Given the description of an element on the screen output the (x, y) to click on. 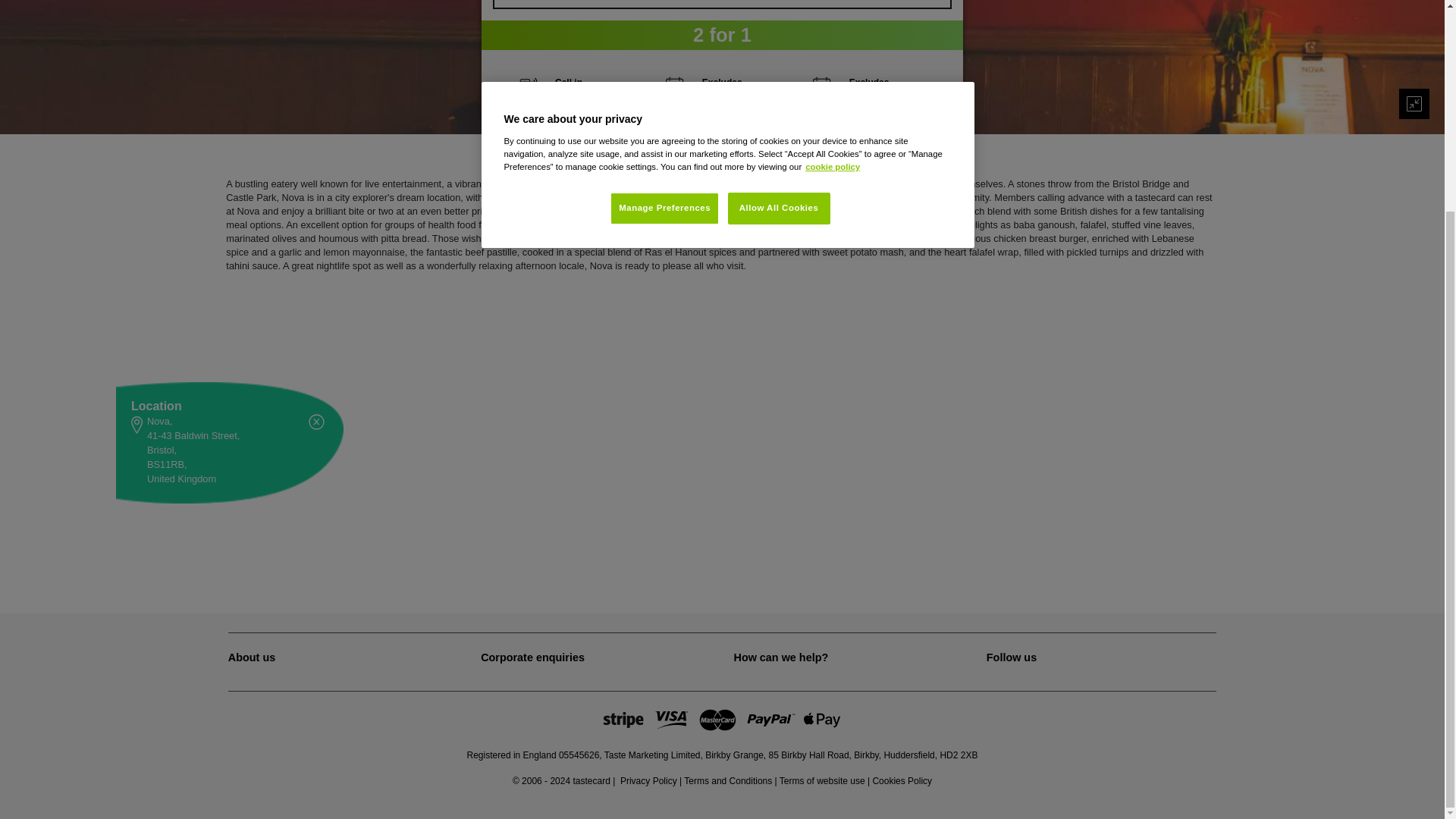
Privacy policy (648, 780)
